Given the description of an element on the screen output the (x, y) to click on. 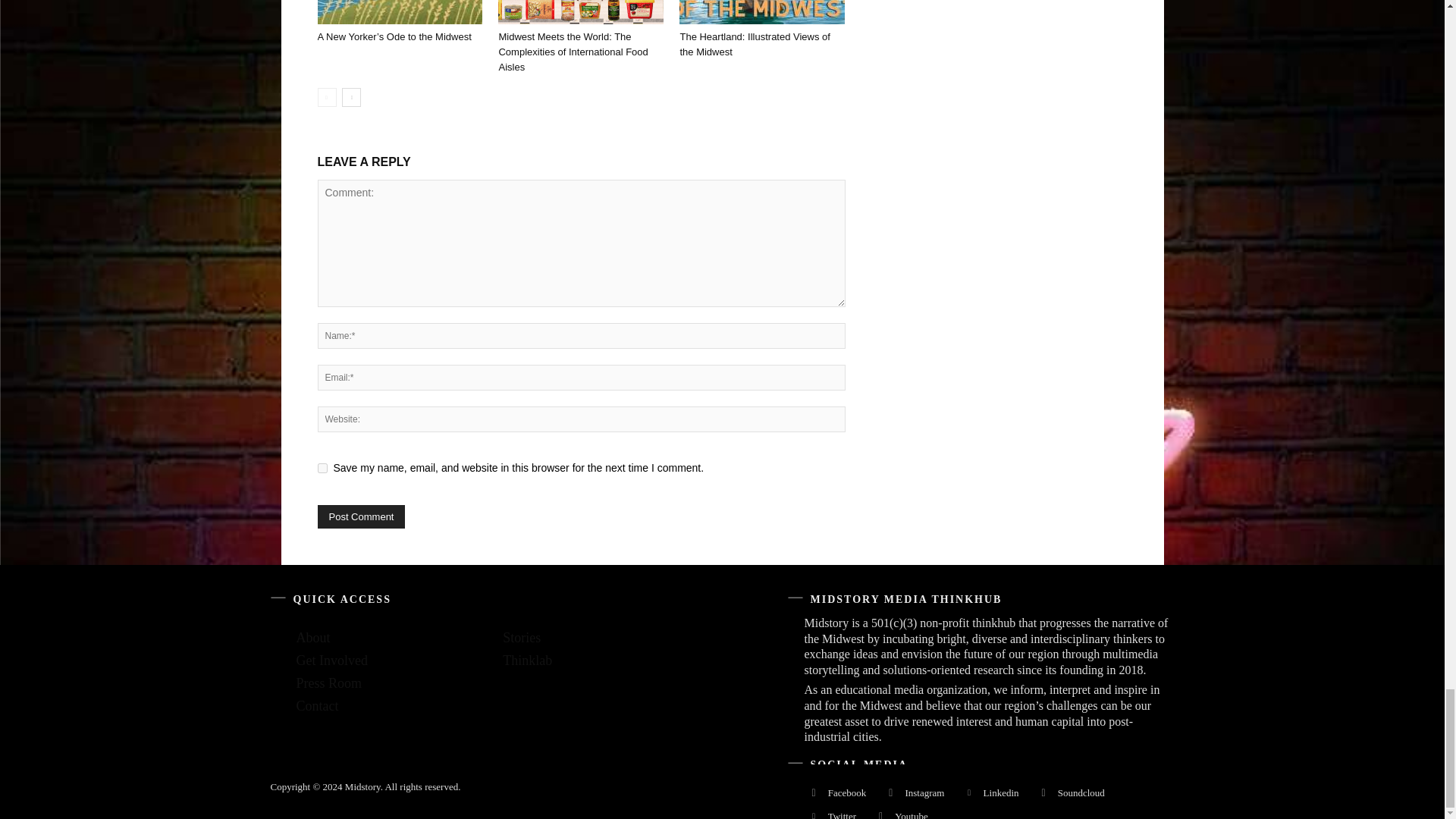
yes (321, 468)
Post Comment (360, 516)
